Given the description of an element on the screen output the (x, y) to click on. 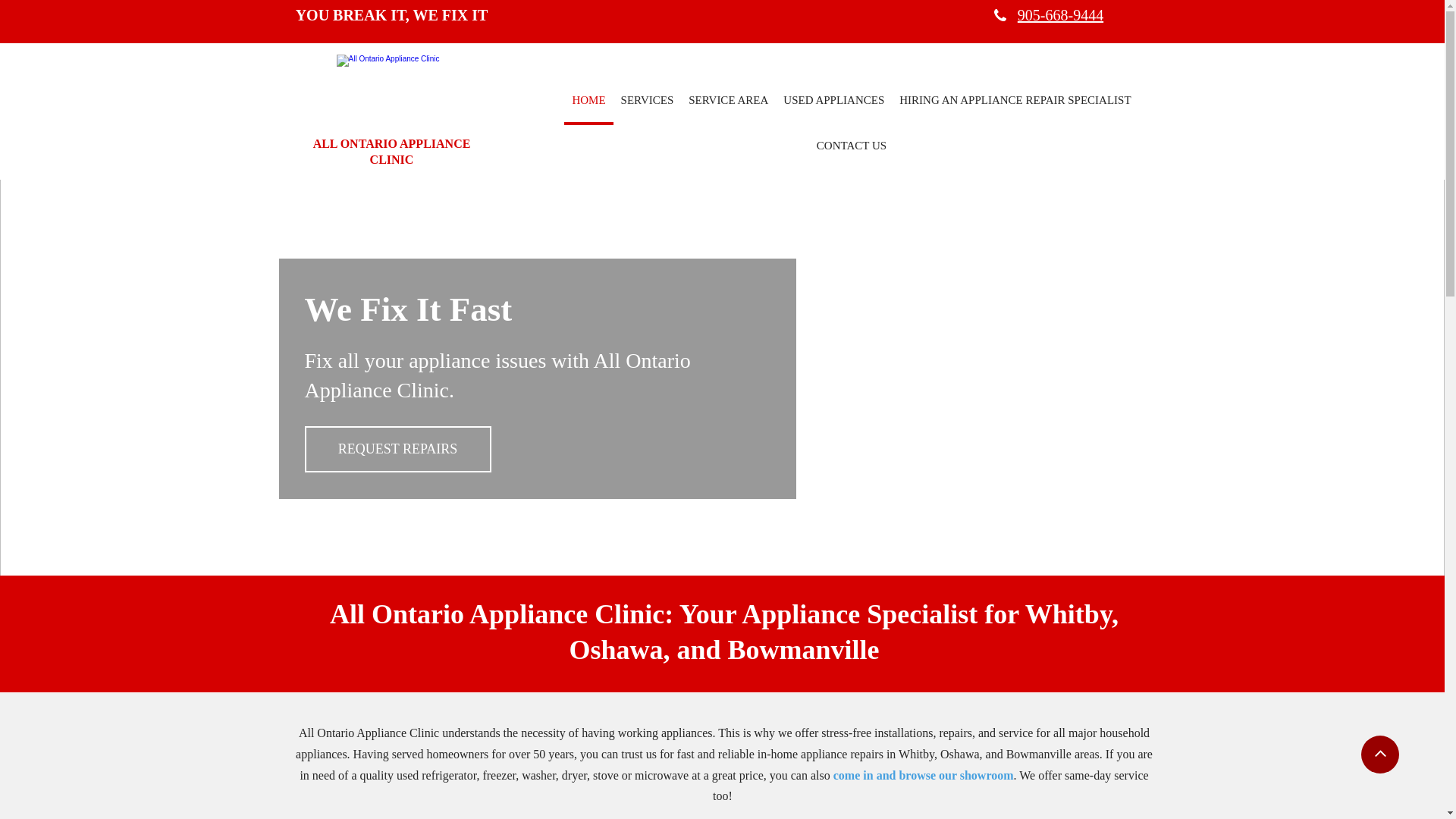
CONTACT US Element type: text (851, 147)
REQUEST REPAIRS Element type: text (397, 449)
HOME Element type: text (588, 102)
905-668-9444 Element type: text (1058, 14)
USED APPLIANCES Element type: text (833, 102)
HIRING AN APPLIANCE REPAIR SPECIALIST Element type: text (1014, 102)
SERVICE AREA Element type: text (727, 102)
SERVICES Element type: text (647, 102)
come in and browse our showroom Element type: text (921, 774)
ALL ONTARIO APPLIANCE CLINIC Element type: text (391, 151)
